Given the description of an element on the screen output the (x, y) to click on. 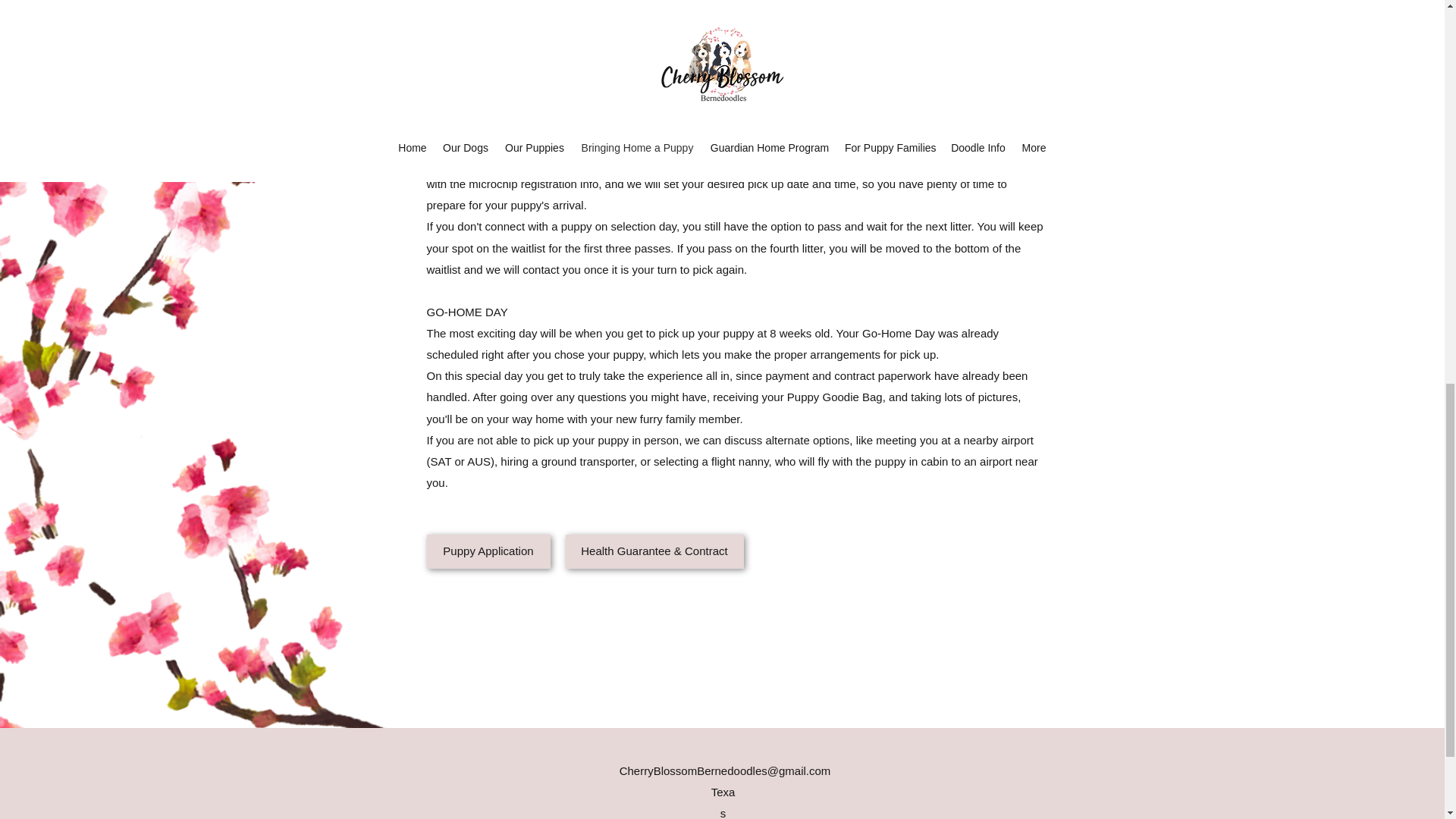
Puppy Application (488, 551)
